Given the description of an element on the screen output the (x, y) to click on. 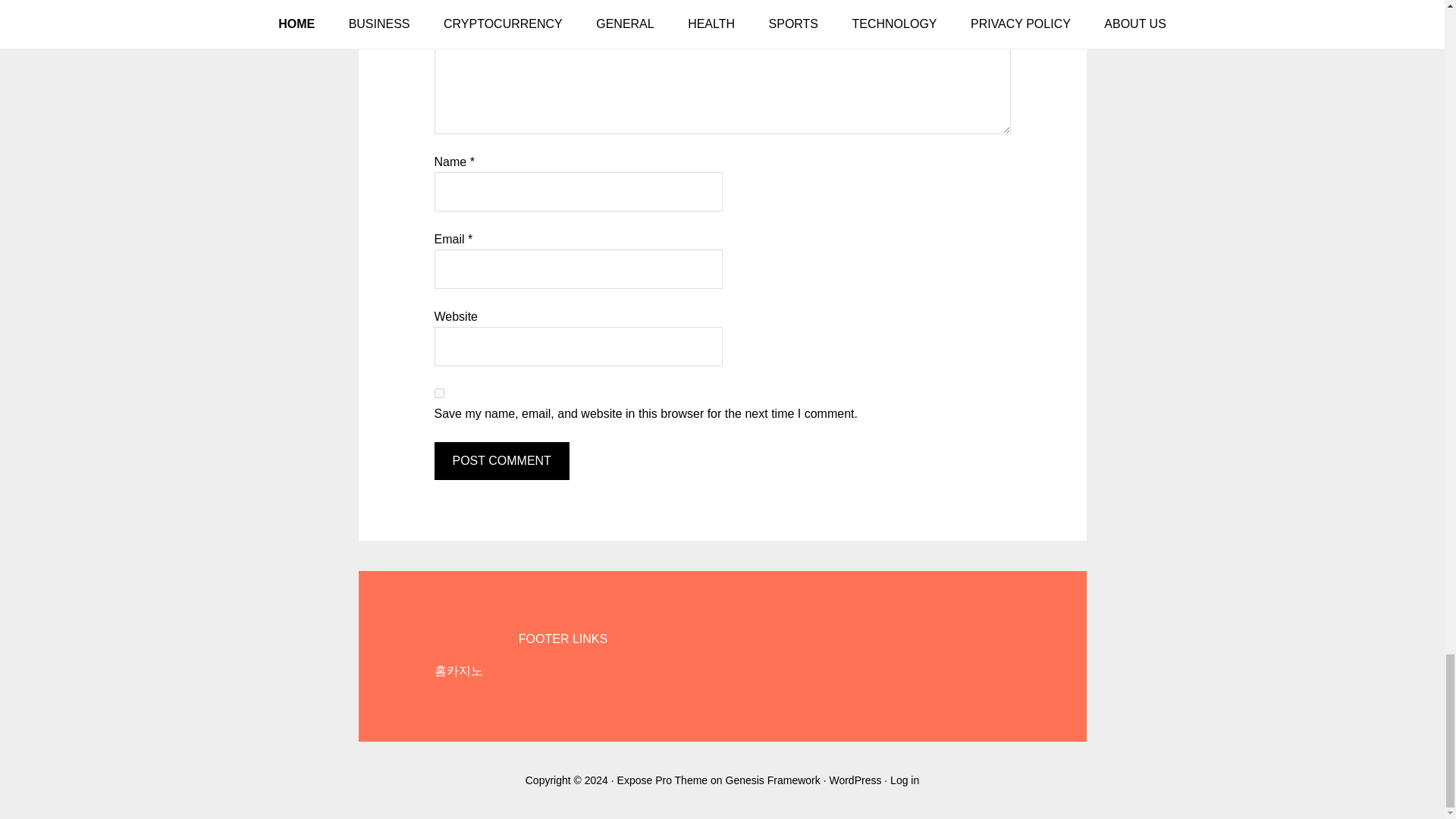
Post Comment (501, 460)
WordPress (854, 779)
Post Comment (501, 460)
Genesis Framework (773, 779)
Expose Pro Theme (662, 779)
Log in (903, 779)
yes (438, 393)
